Given the description of an element on the screen output the (x, y) to click on. 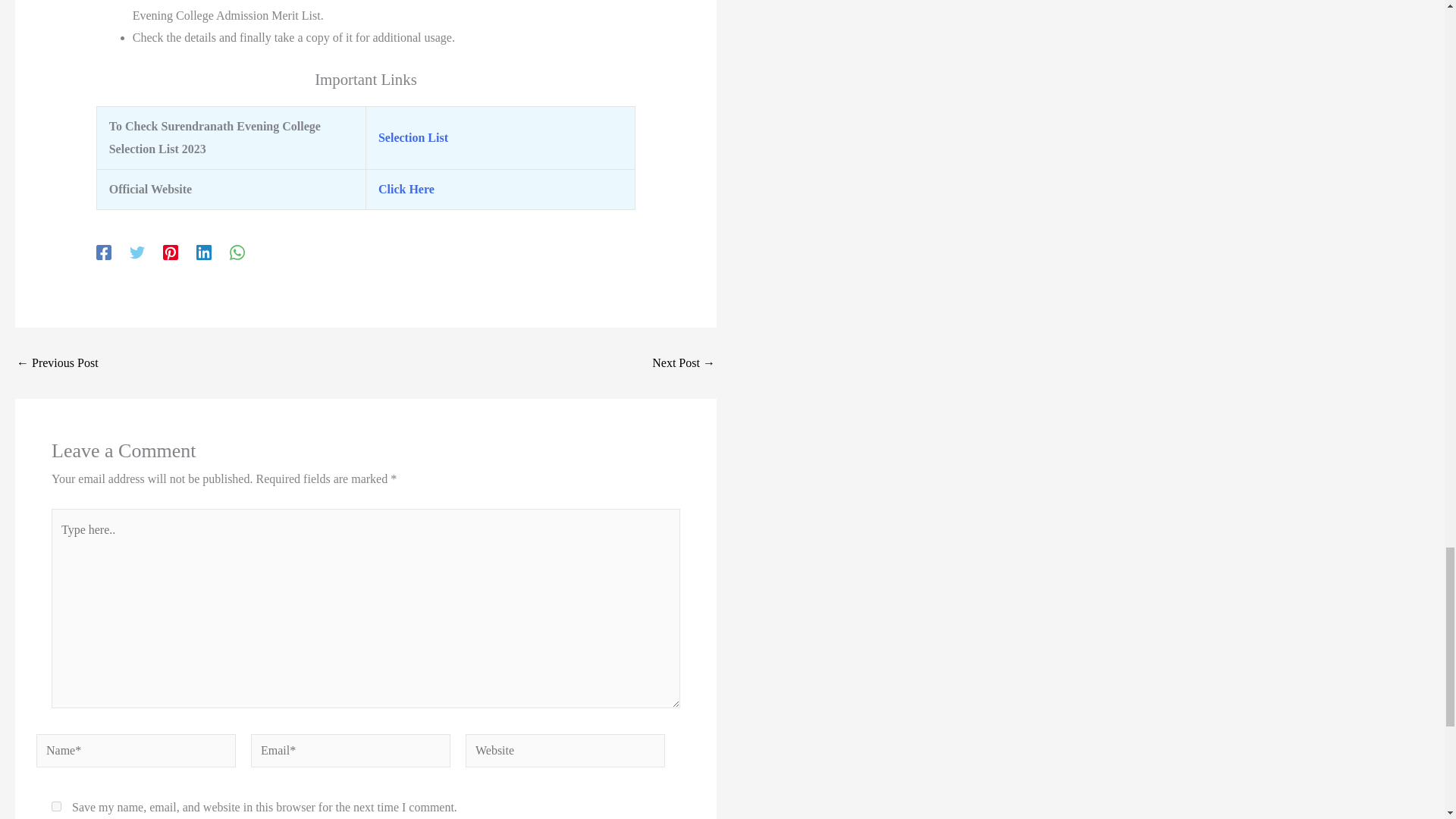
yes (55, 806)
